Given the description of an element on the screen output the (x, y) to click on. 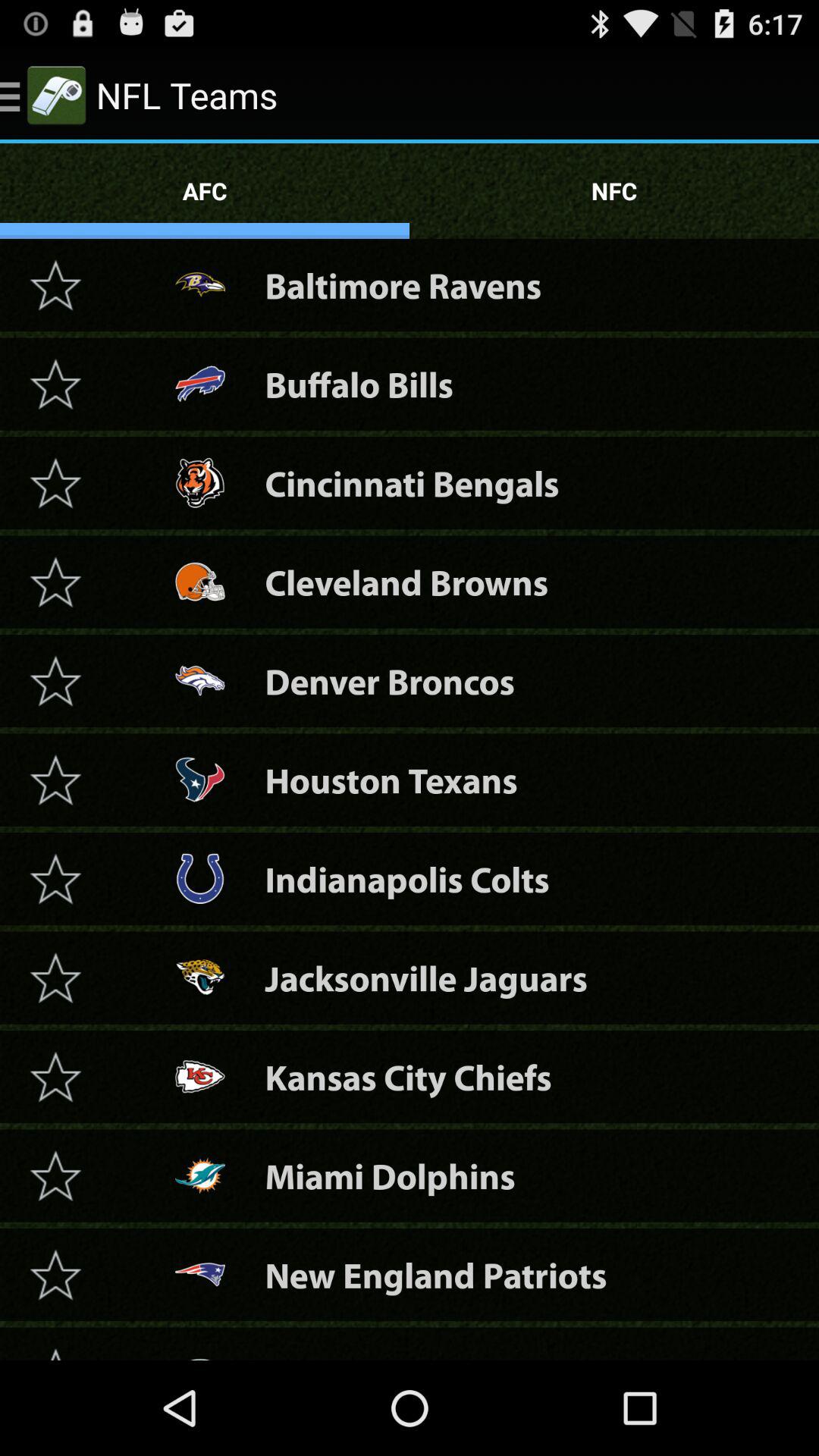
launch the icon below indianapolis colts (426, 977)
